Given the description of an element on the screen output the (x, y) to click on. 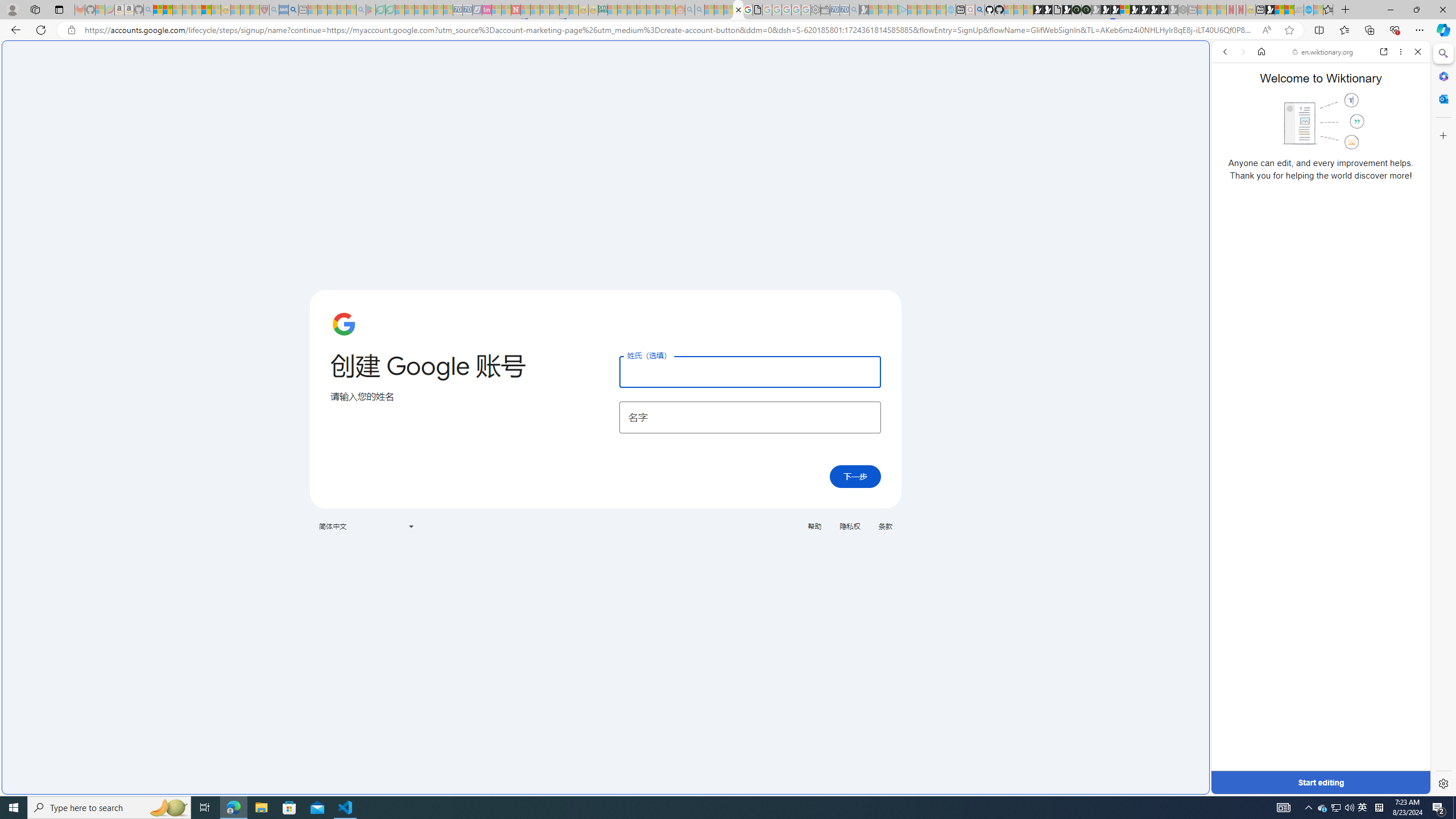
github - Search (979, 9)
Close split screen (1208, 57)
